Given the description of an element on the screen output the (x, y) to click on. 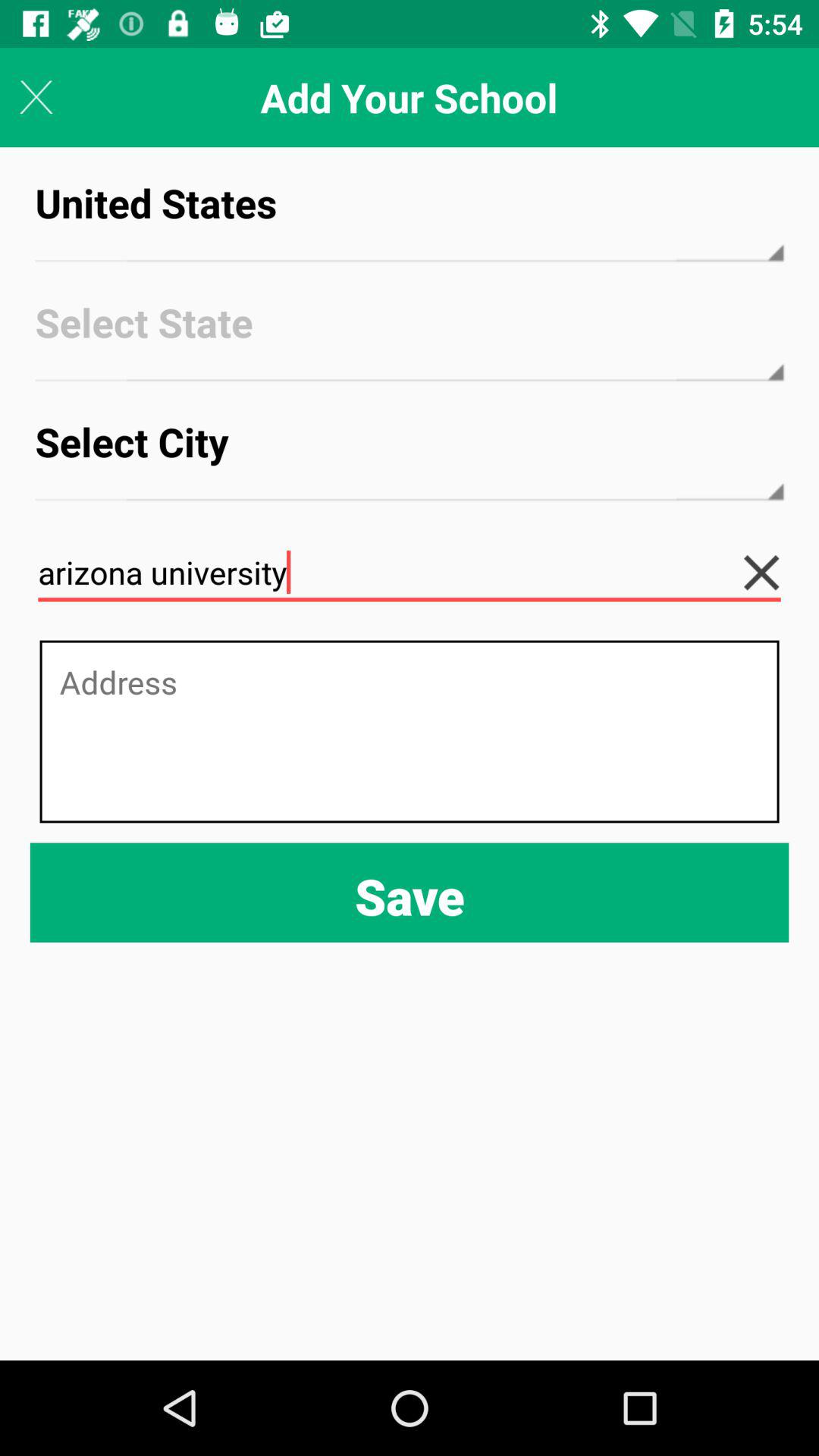
press the save icon (409, 892)
